Given the description of an element on the screen output the (x, y) to click on. 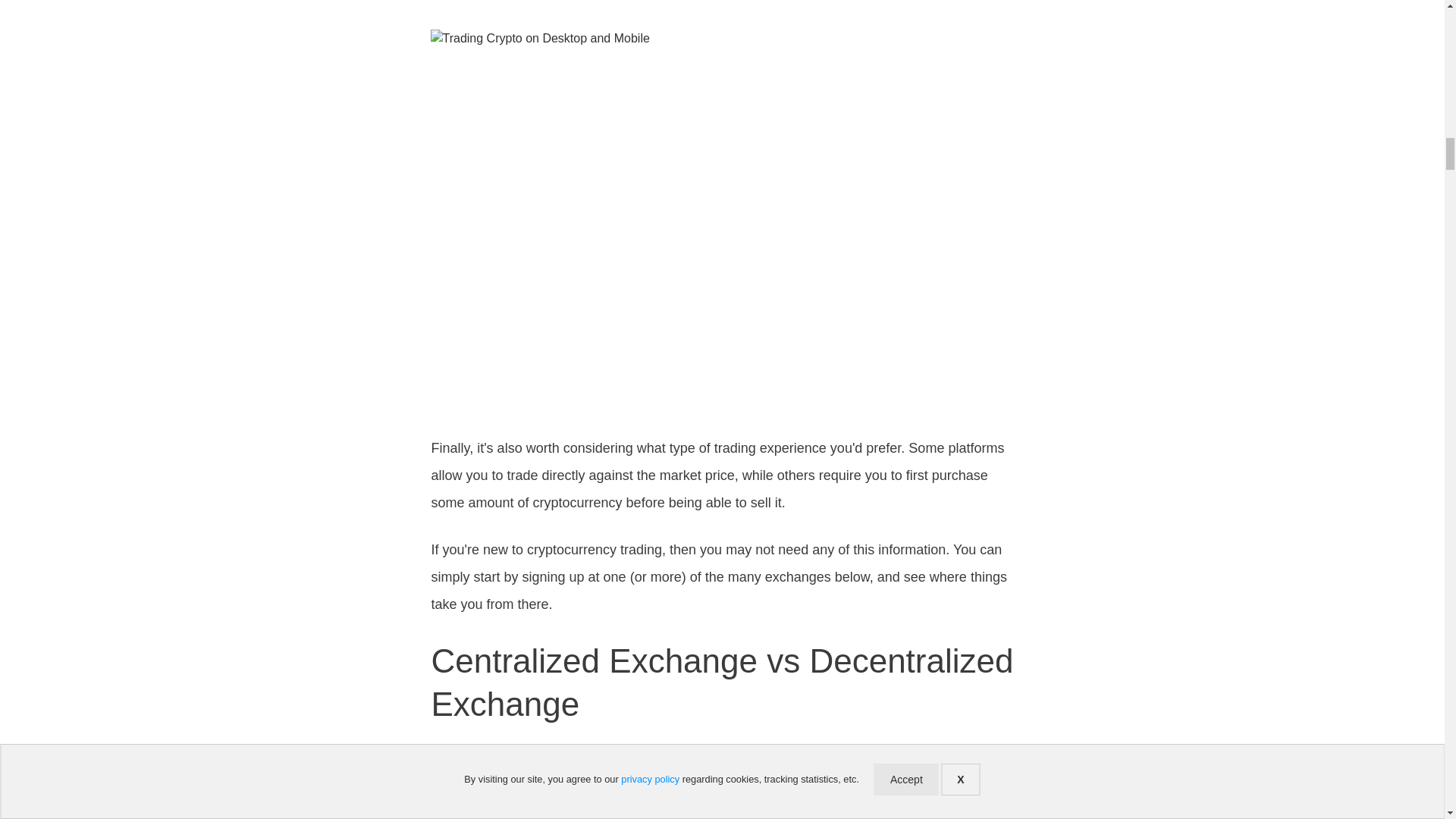
Gemini (873, 783)
Coinbase (802, 783)
